Given the description of an element on the screen output the (x, y) to click on. 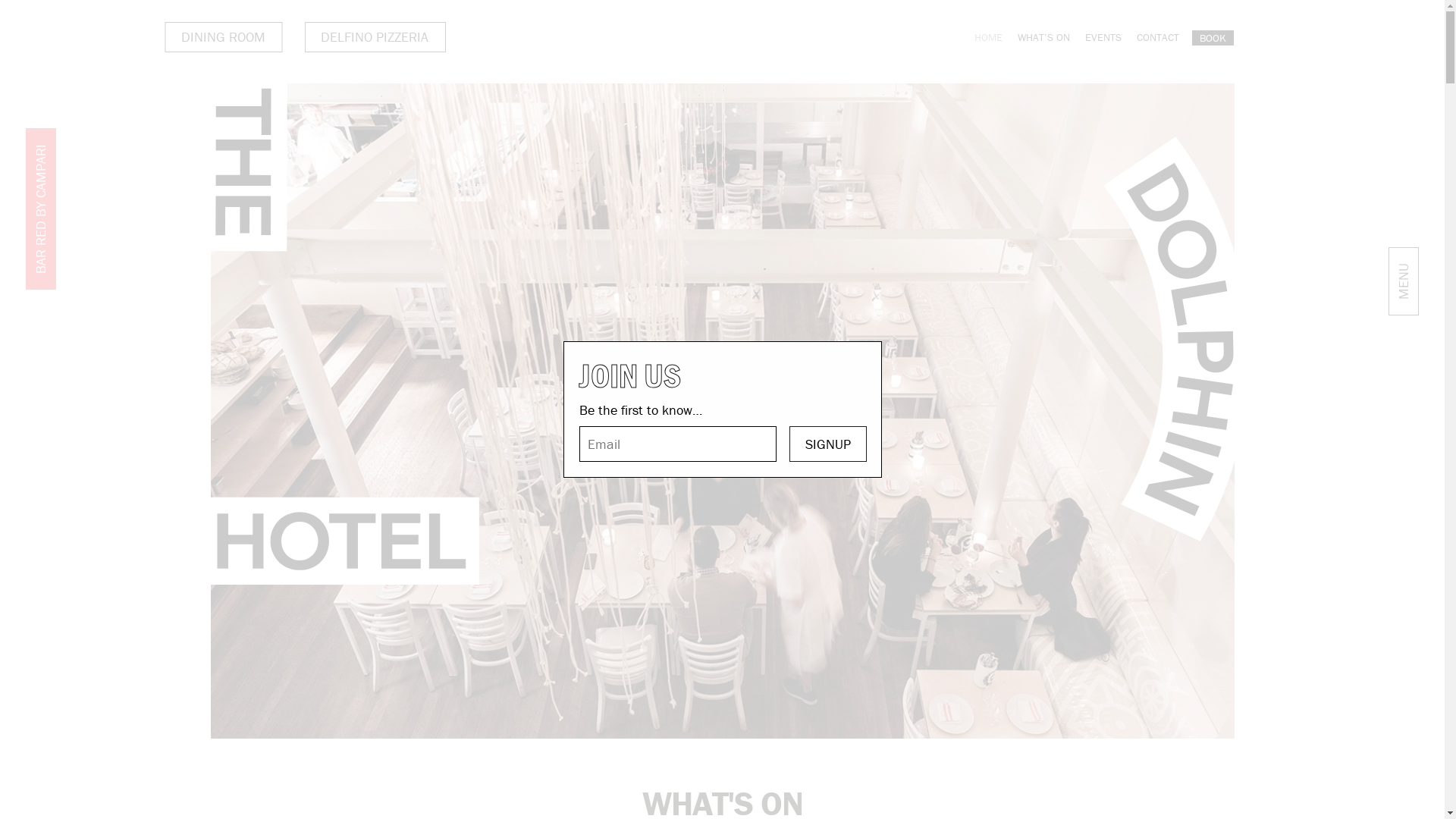
CONTACT Element type: text (1156, 36)
DELFINO PIZZERIA Element type: text (375, 36)
Signup Element type: text (828, 443)
HOME Element type: text (987, 36)
BAR RED BY CAMPARI Element type: text (106, 142)
EVENTS Element type: text (1102, 36)
BOOK Element type: text (1212, 37)
DINING ROOM Element type: text (224, 36)
